Given the description of an element on the screen output the (x, y) to click on. 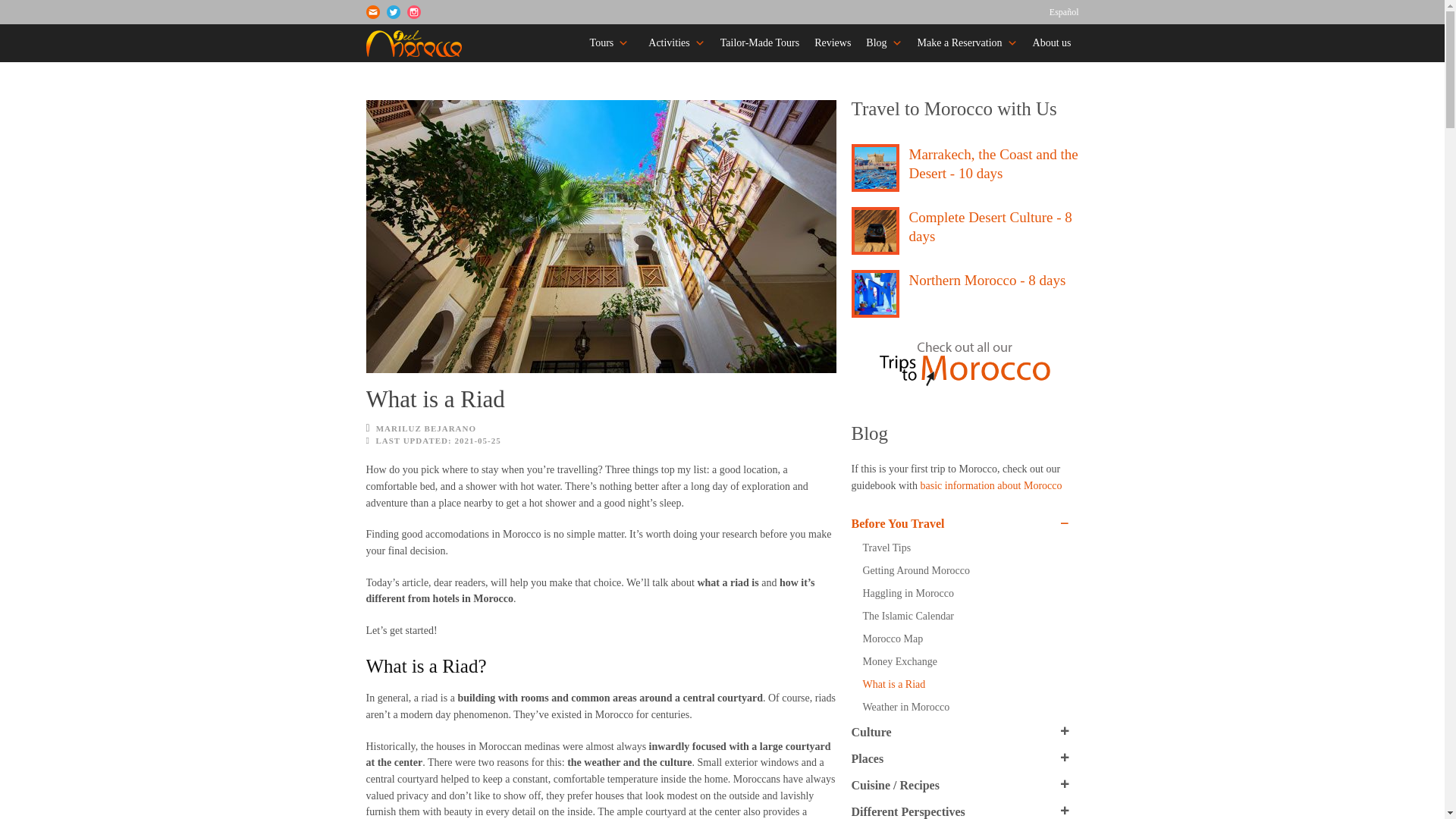
Tours (609, 43)
What is a Riad (600, 236)
Posts by Mariluz Bejarano (425, 428)
Activities (673, 43)
